Given the description of an element on the screen output the (x, y) to click on. 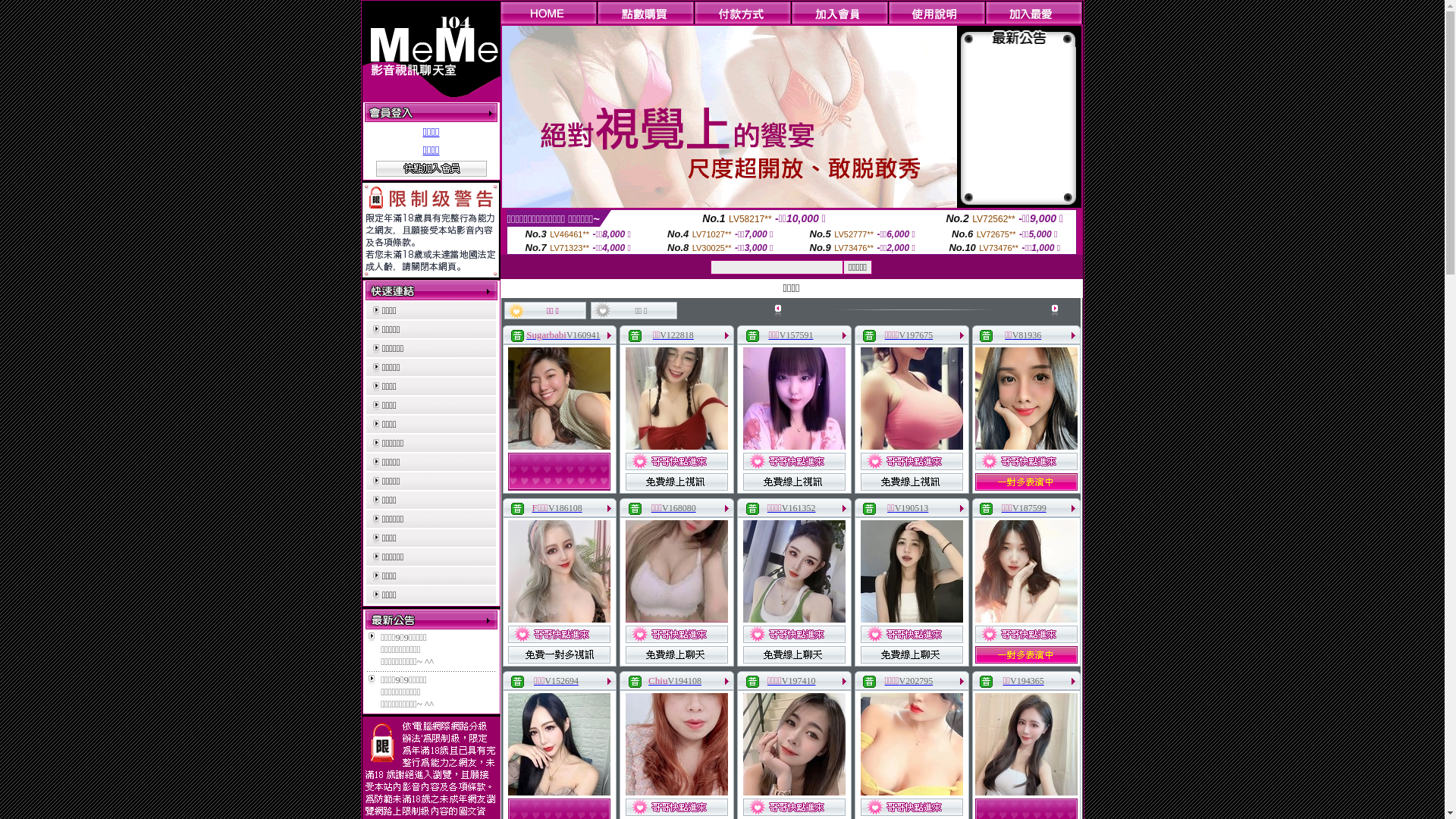
V161352 Element type: text (798, 507)
V160941 Element type: text (583, 334)
V187599 Element type: text (1029, 507)
V81936 Element type: text (1026, 334)
V202795 Element type: text (916, 680)
V122818 Element type: text (676, 334)
V194365 Element type: text (1027, 680)
V190513 Element type: text (911, 507)
V197675 Element type: text (916, 334)
V197410 Element type: text (798, 680)
V168080 Element type: text (679, 507)
Chiu Element type: text (657, 680)
Sugarbabi Element type: text (546, 334)
V157591 Element type: text (796, 334)
V152694 Element type: text (561, 680)
V186108 Element type: text (565, 507)
V194108 Element type: text (684, 680)
